Given the description of an element on the screen output the (x, y) to click on. 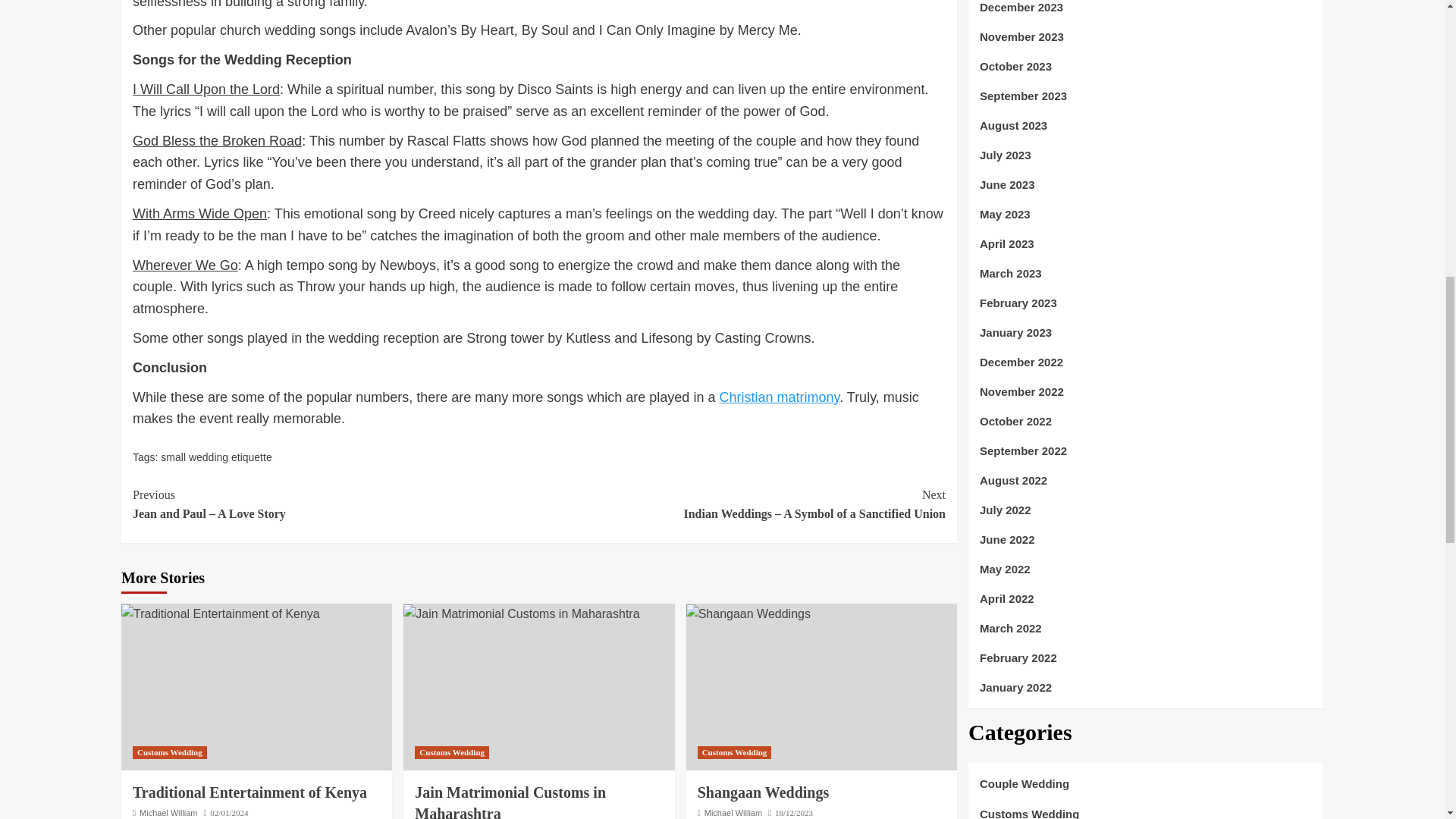
Customs Wedding (169, 752)
Shangaan Weddings (747, 614)
Customs Wedding (734, 752)
Shangaan Weddings (763, 791)
Christian matrimony (779, 396)
Michael William (732, 812)
Michael William (167, 812)
Jain Matrimonial Customs in Maharashtra (509, 801)
Customs Wedding (451, 752)
Traditional Entertainment of Kenya (249, 791)
Jain Matrimonial Customs in Maharashtra (521, 614)
Traditional Entertainment of Kenya (220, 614)
small wedding etiquette (215, 457)
